Given the description of an element on the screen output the (x, y) to click on. 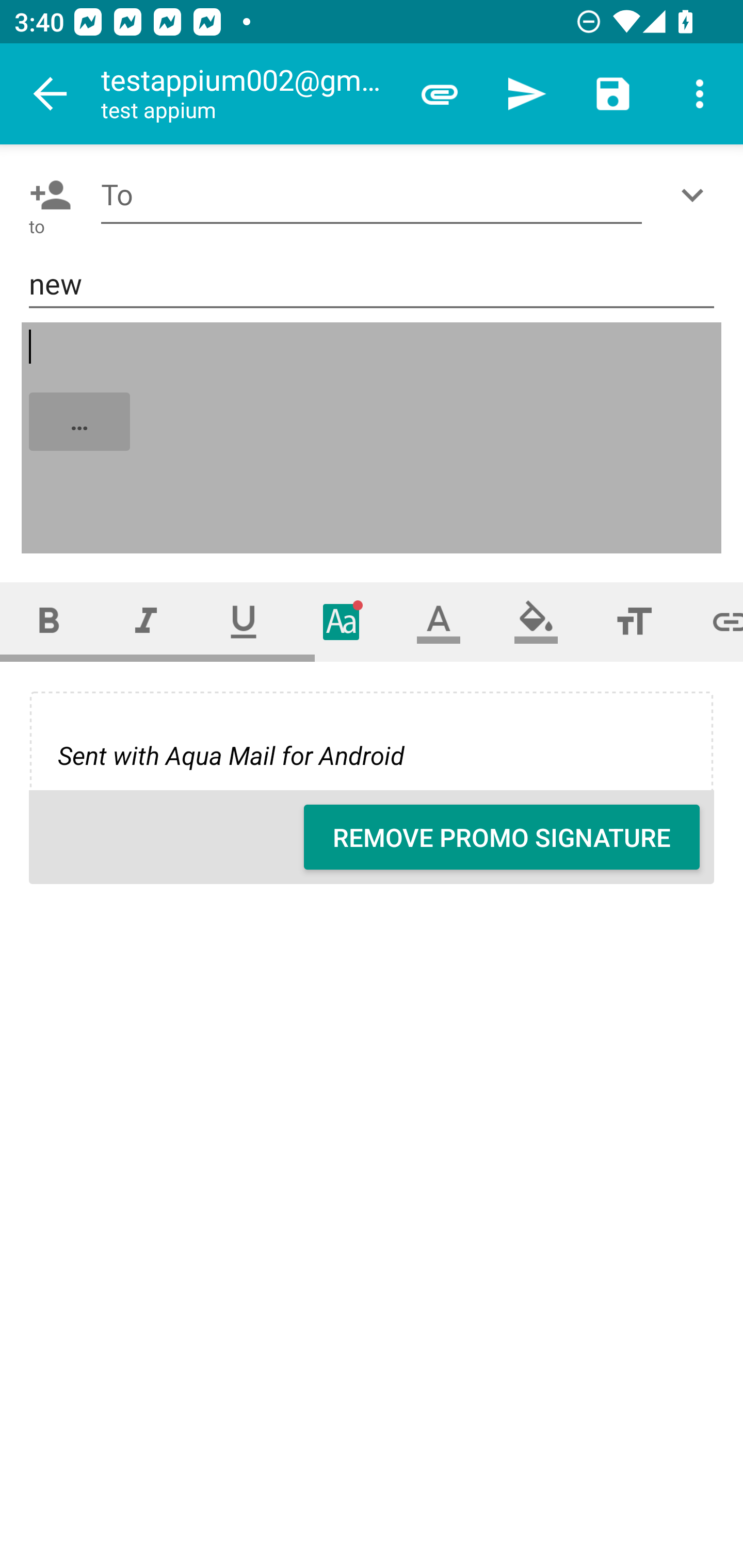
Navigate up (50, 93)
testappium002@gmail.com test appium (248, 93)
Attach (439, 93)
Send (525, 93)
Save (612, 93)
More options (699, 93)
Pick contact: To (46, 195)
Show/Add CC/BCC (696, 195)
To (371, 195)
new (371, 284)

…
 (372, 438)
Bold (48, 621)
Italic (145, 621)
Underline (243, 621)
Typeface (font) (341, 621)
Text color (438, 621)
Fill color (536, 621)
Font size (633, 621)
REMOVE PROMO SIGNATURE (501, 837)
